Given the description of an element on the screen output the (x, y) to click on. 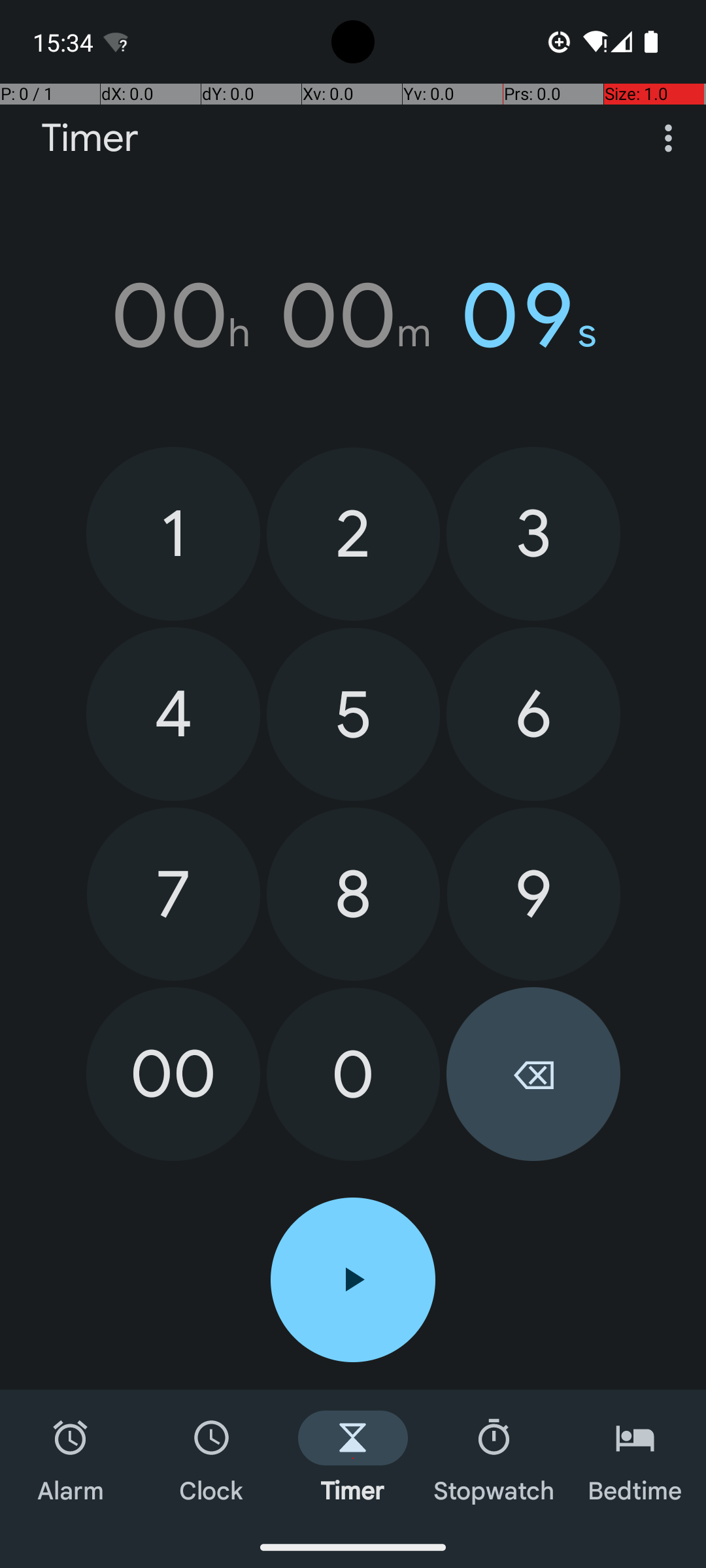
00h 00m 09s Element type: android.widget.TextView (353, 315)
